Given the description of an element on the screen output the (x, y) to click on. 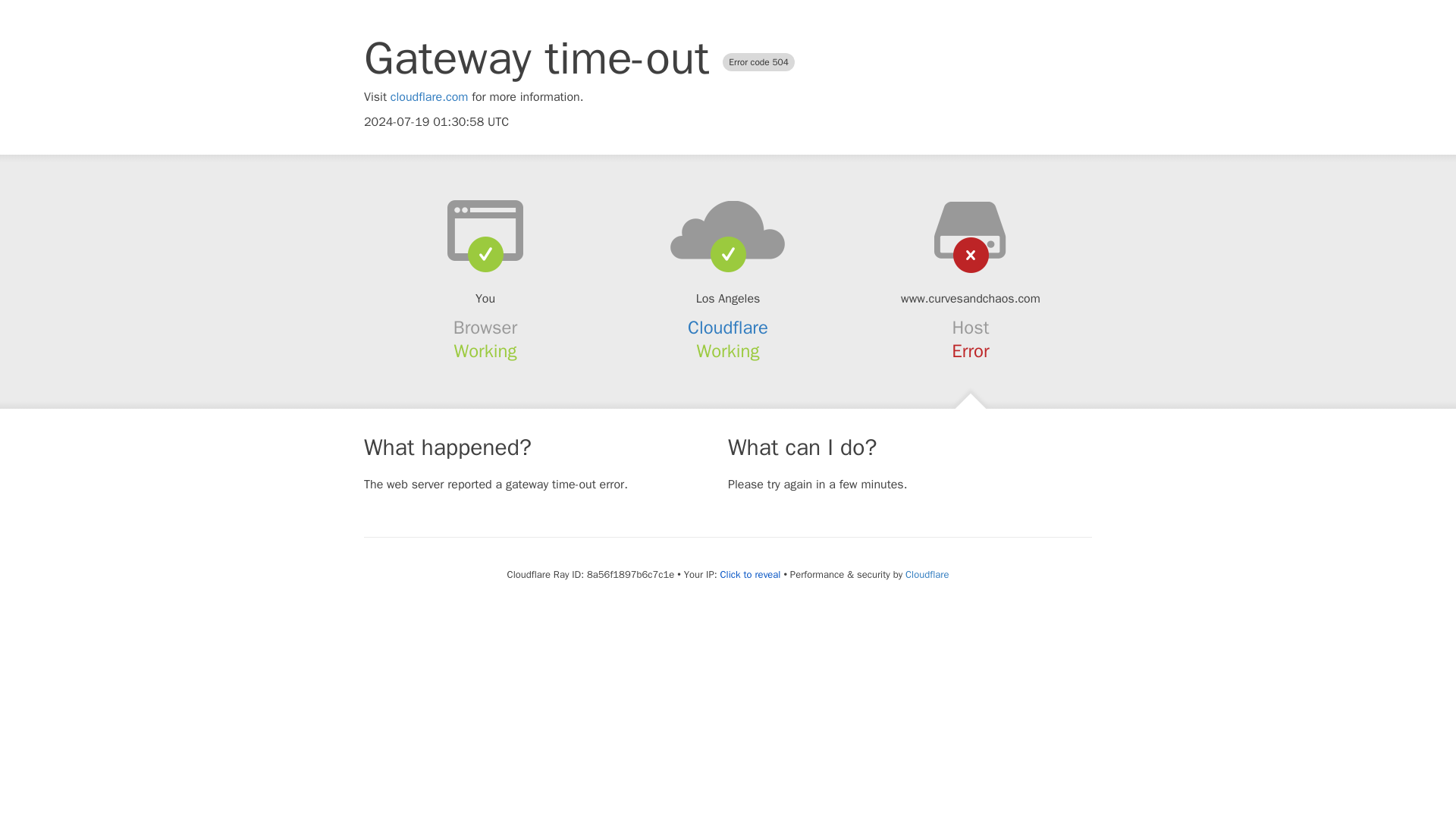
Cloudflare (727, 327)
Cloudflare (927, 574)
cloudflare.com (429, 96)
Click to reveal (750, 574)
